Given the description of an element on the screen output the (x, y) to click on. 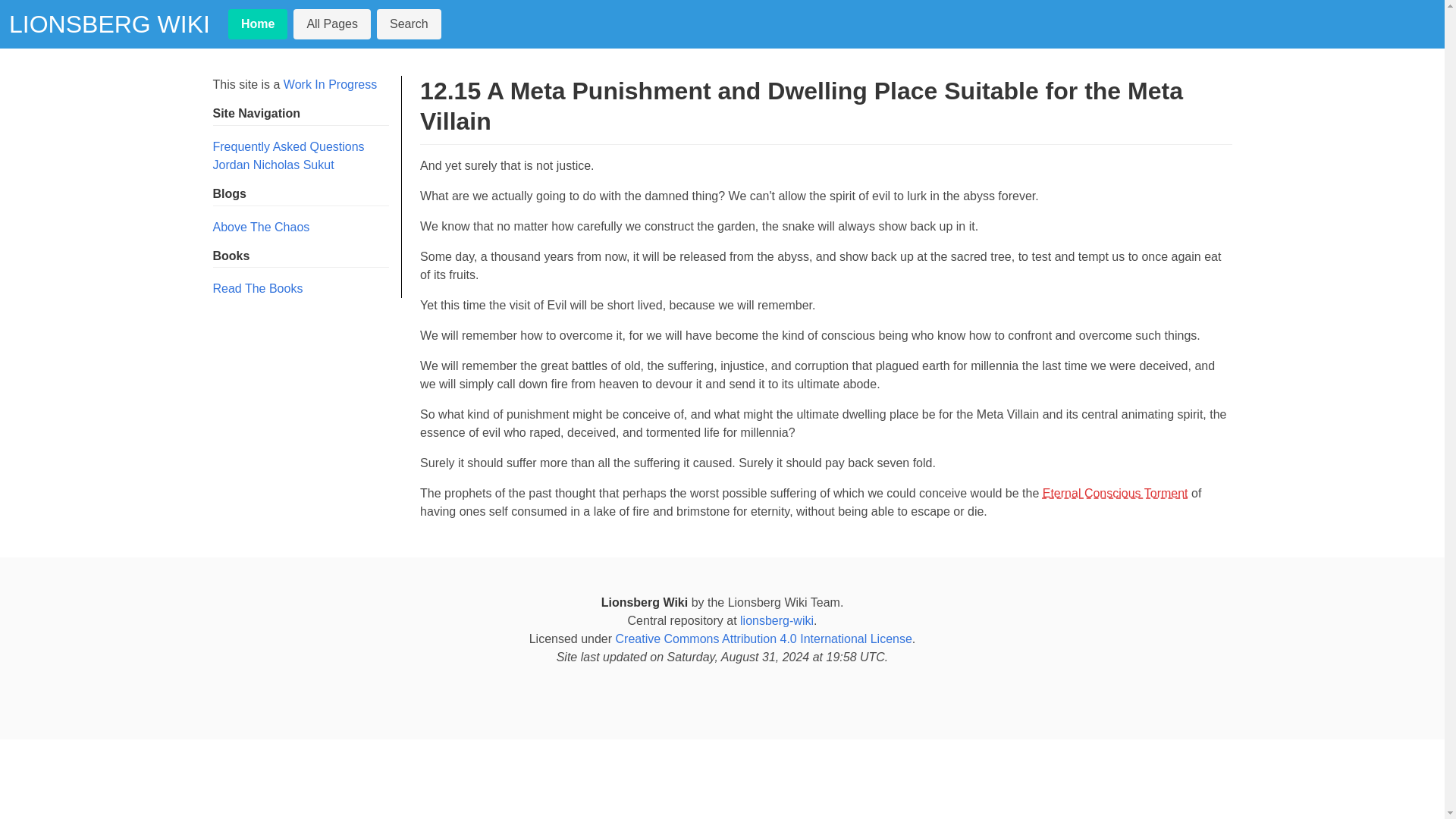
All Pages (332, 24)
Work In Progress (330, 83)
Creative Commons Attribution 4.0 International License (763, 638)
lionsberg-wiki (776, 620)
LIONSBERG WIKI (109, 24)
Home (257, 24)
Search (409, 24)
Read The Books (257, 287)
Frequently Asked Questions (288, 146)
Jordan Nicholas Sukut (272, 164)
